Given the description of an element on the screen output the (x, y) to click on. 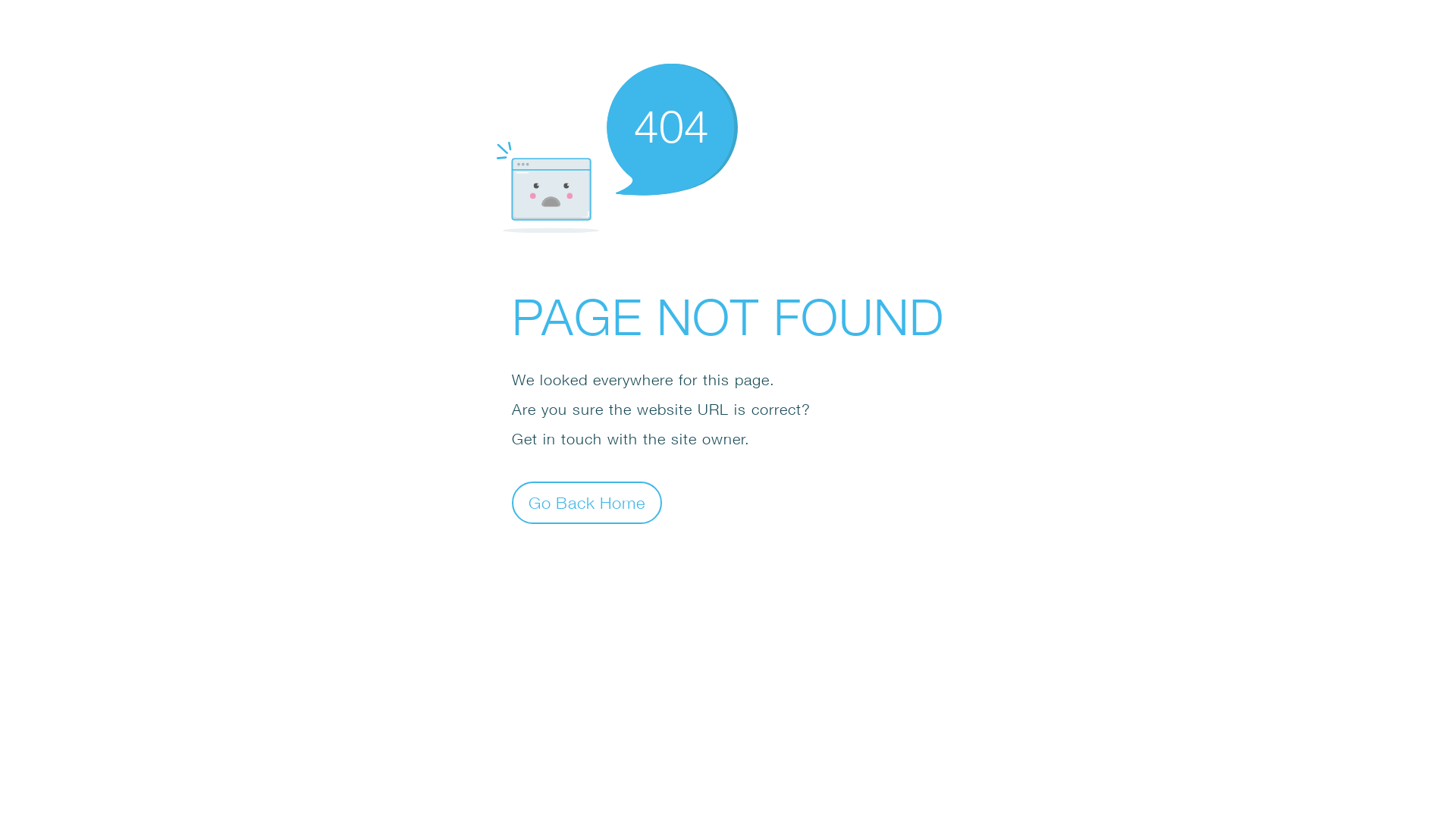
Go Back Home Element type: text (586, 502)
